Given the description of an element on the screen output the (x, y) to click on. 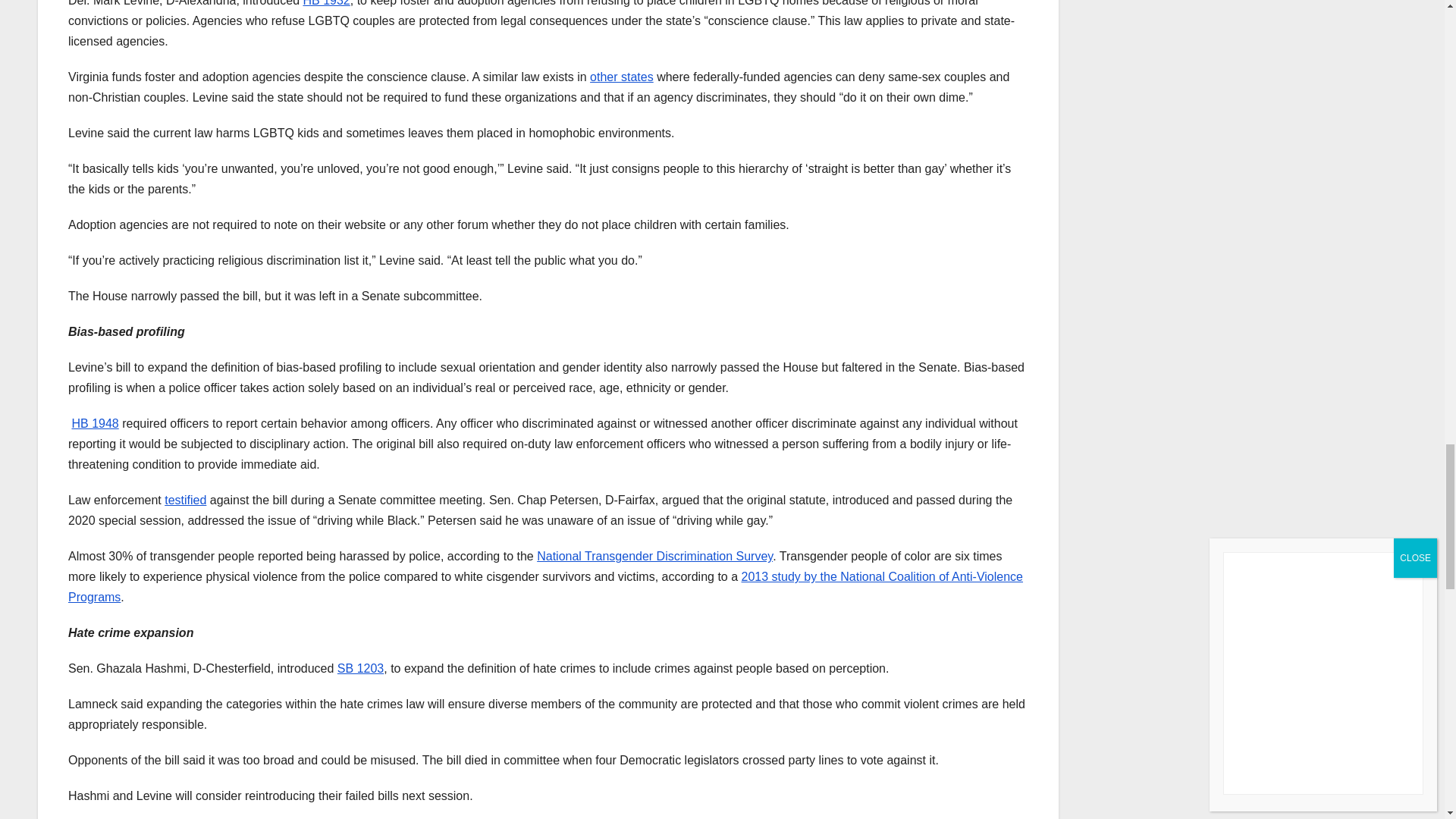
National Transgender Discrimination Survey (655, 555)
testified (185, 499)
other states (621, 76)
HB 1932 (325, 3)
HB 1948 (94, 422)
